Given the description of an element on the screen output the (x, y) to click on. 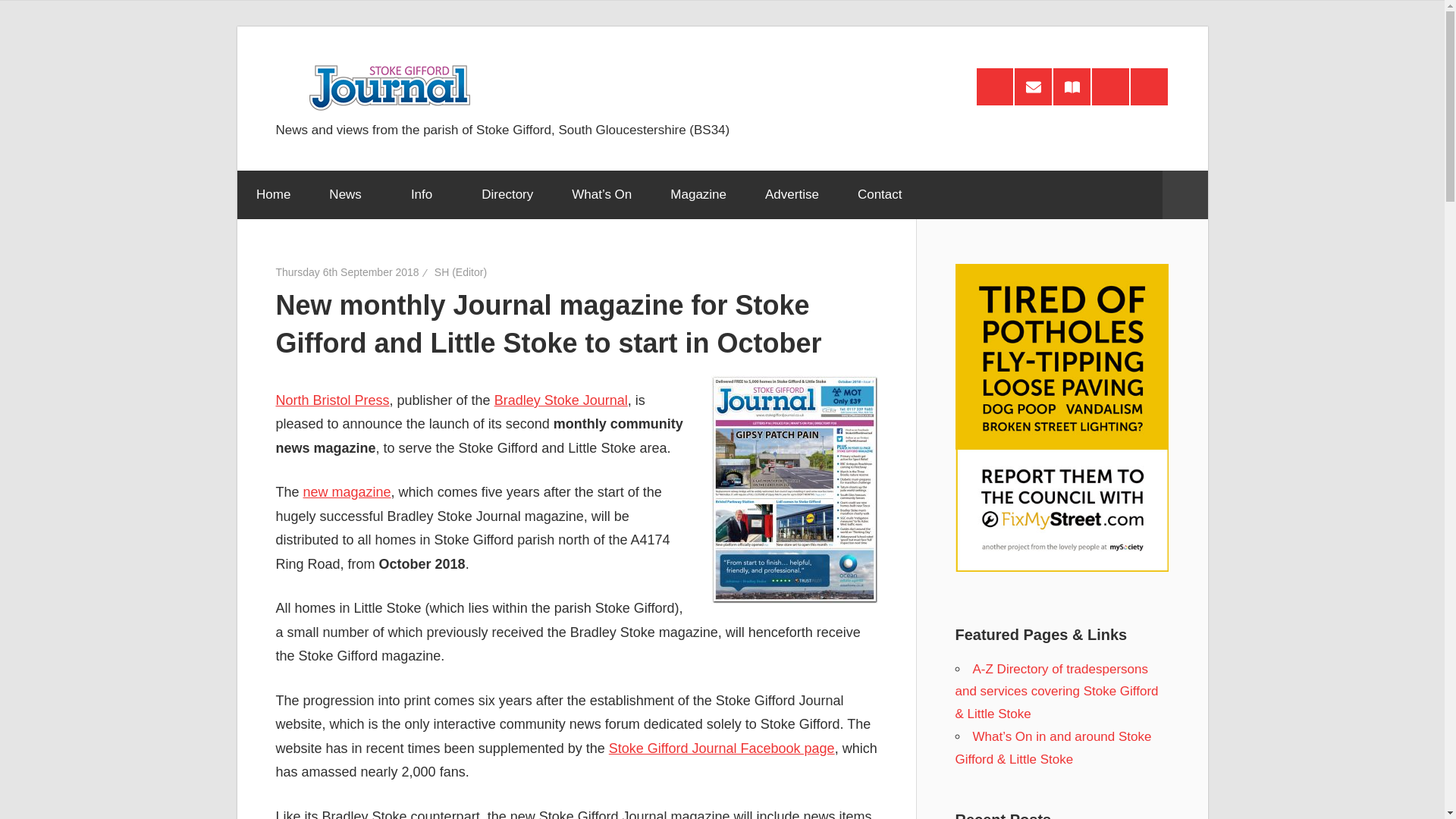
News (350, 194)
RSS news feed of the Stoke Gifford Journal (994, 86)
Info (426, 194)
Read our Magazine (1071, 86)
Twitter (1149, 86)
Facebook (1110, 86)
Stoke Gifford Journal on Twitter (1149, 86)
Feed (994, 86)
Home (271, 194)
